Given the description of an element on the screen output the (x, y) to click on. 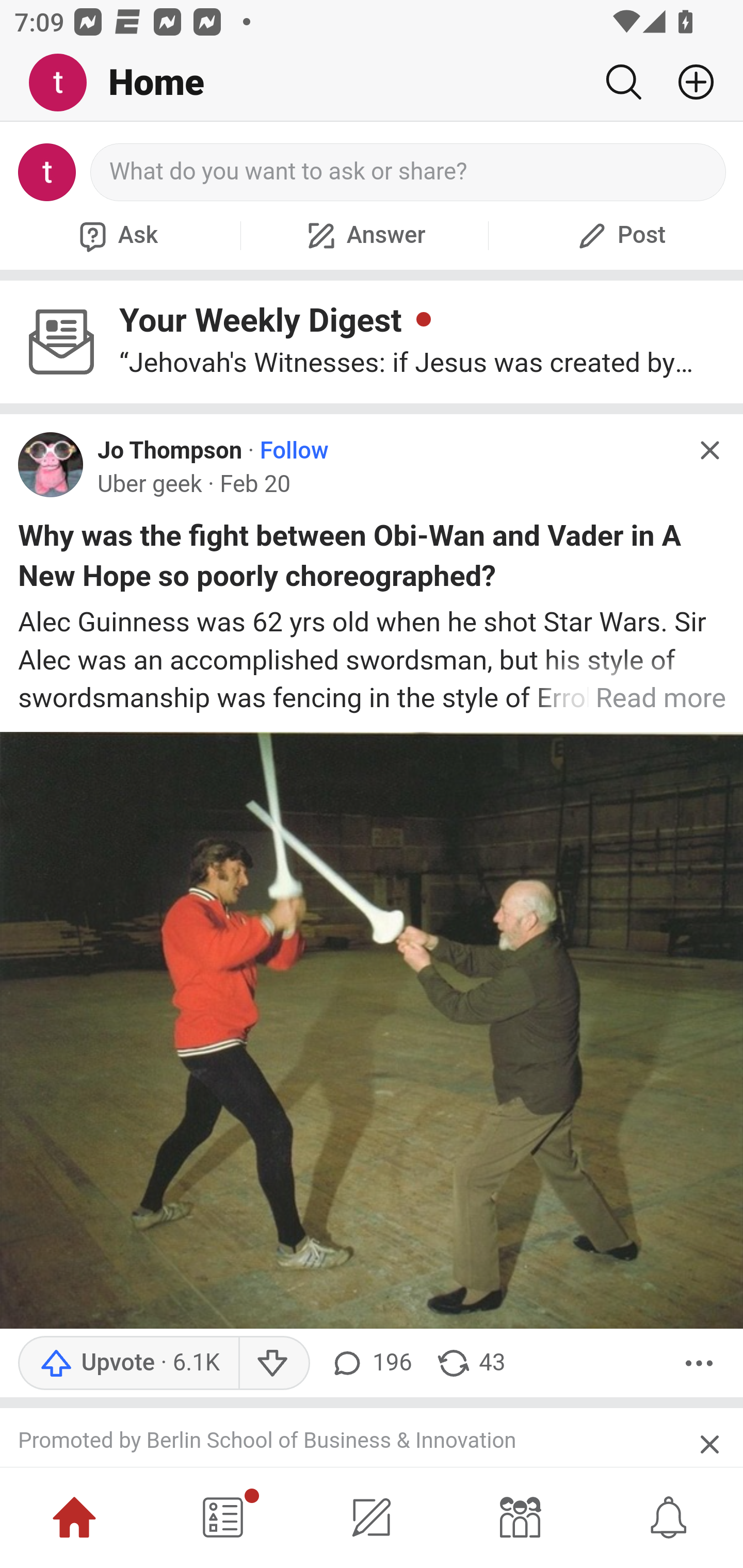
Me Home Search Add (371, 82)
Me (64, 83)
Search (623, 82)
Add (688, 82)
